Given the description of an element on the screen output the (x, y) to click on. 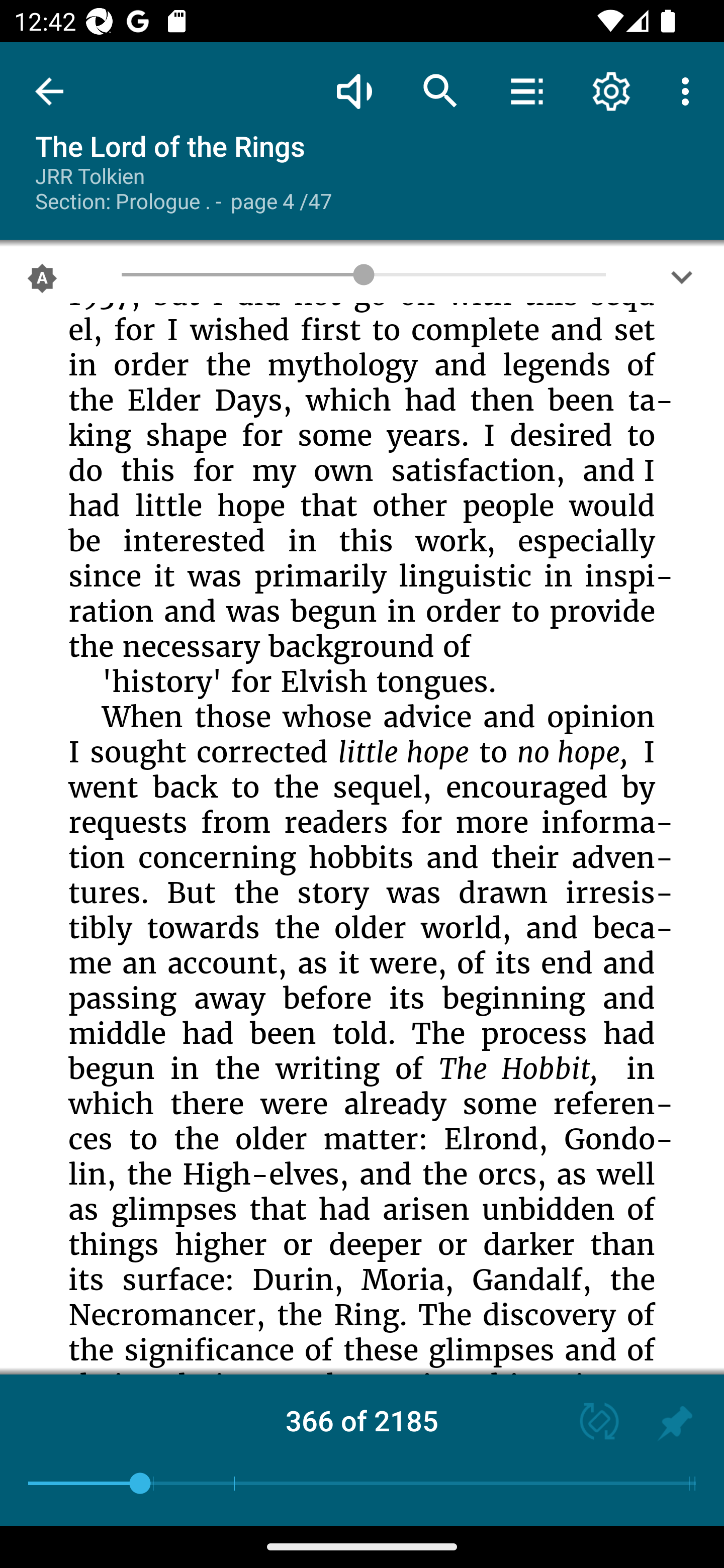
Exit reading (49, 91)
Read aloud (354, 90)
Text search (440, 90)
Contents / Bookmarks / Quotes (526, 90)
Reading settings (611, 90)
More options (688, 90)
Selected screen brightness (42, 281)
Screen brightness settings (681, 281)
366 of 2185 (361, 1420)
Screen orientation (590, 1423)
Add to history (674, 1423)
